Given the description of an element on the screen output the (x, y) to click on. 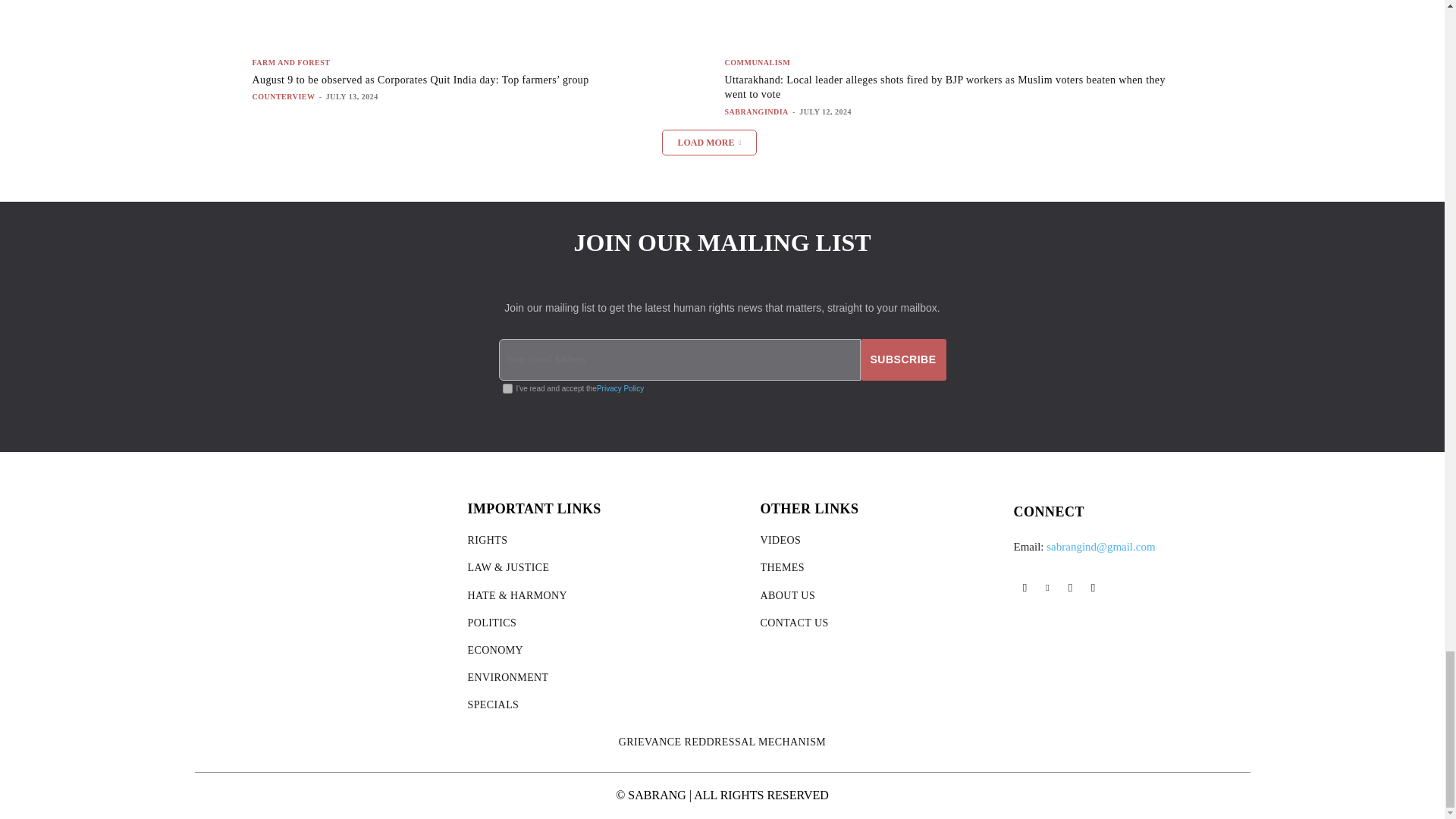
on (507, 388)
Subscribe (903, 359)
